Given the description of an element on the screen output the (x, y) to click on. 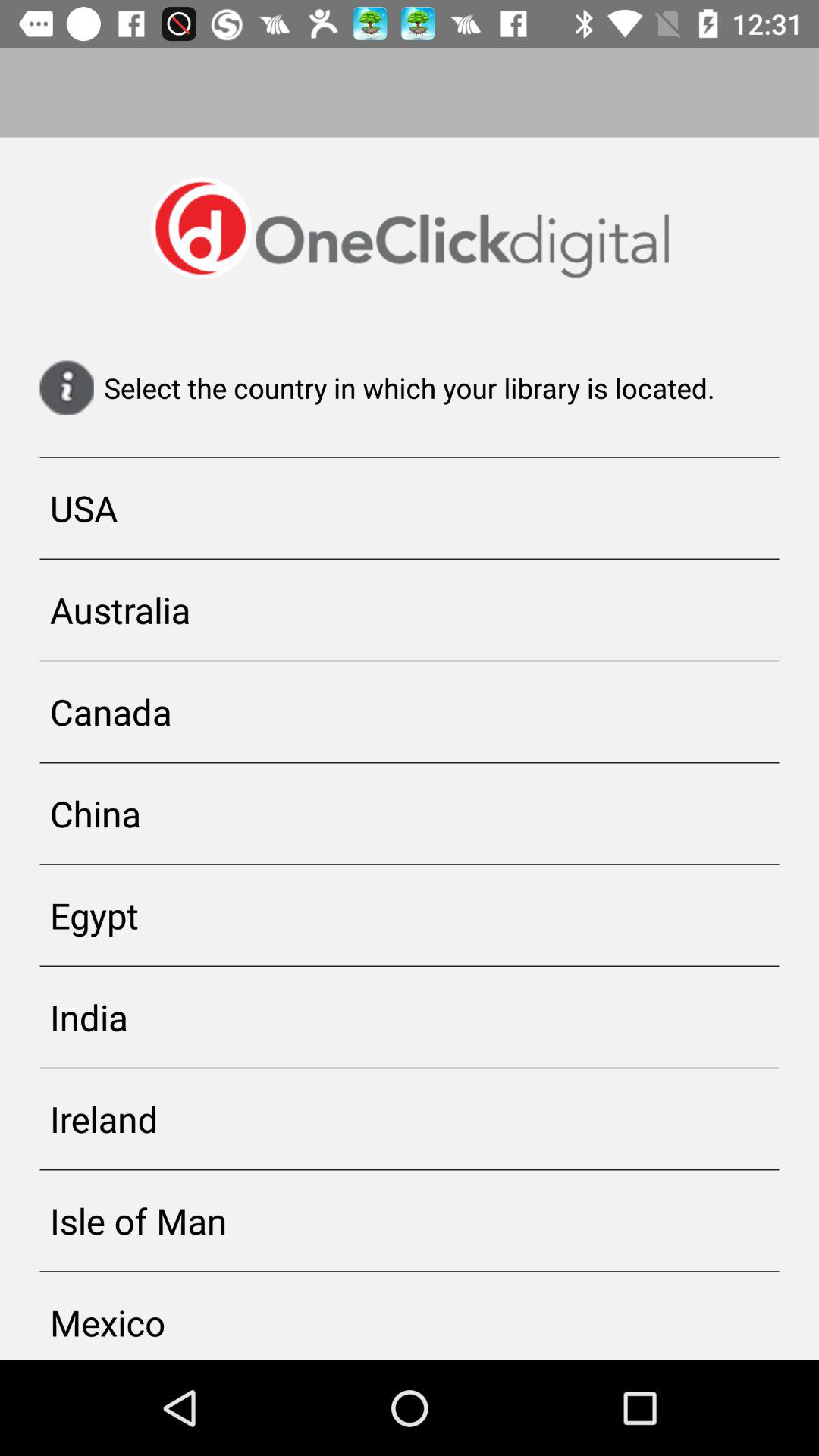
click item below india app (409, 1118)
